Given the description of an element on the screen output the (x, y) to click on. 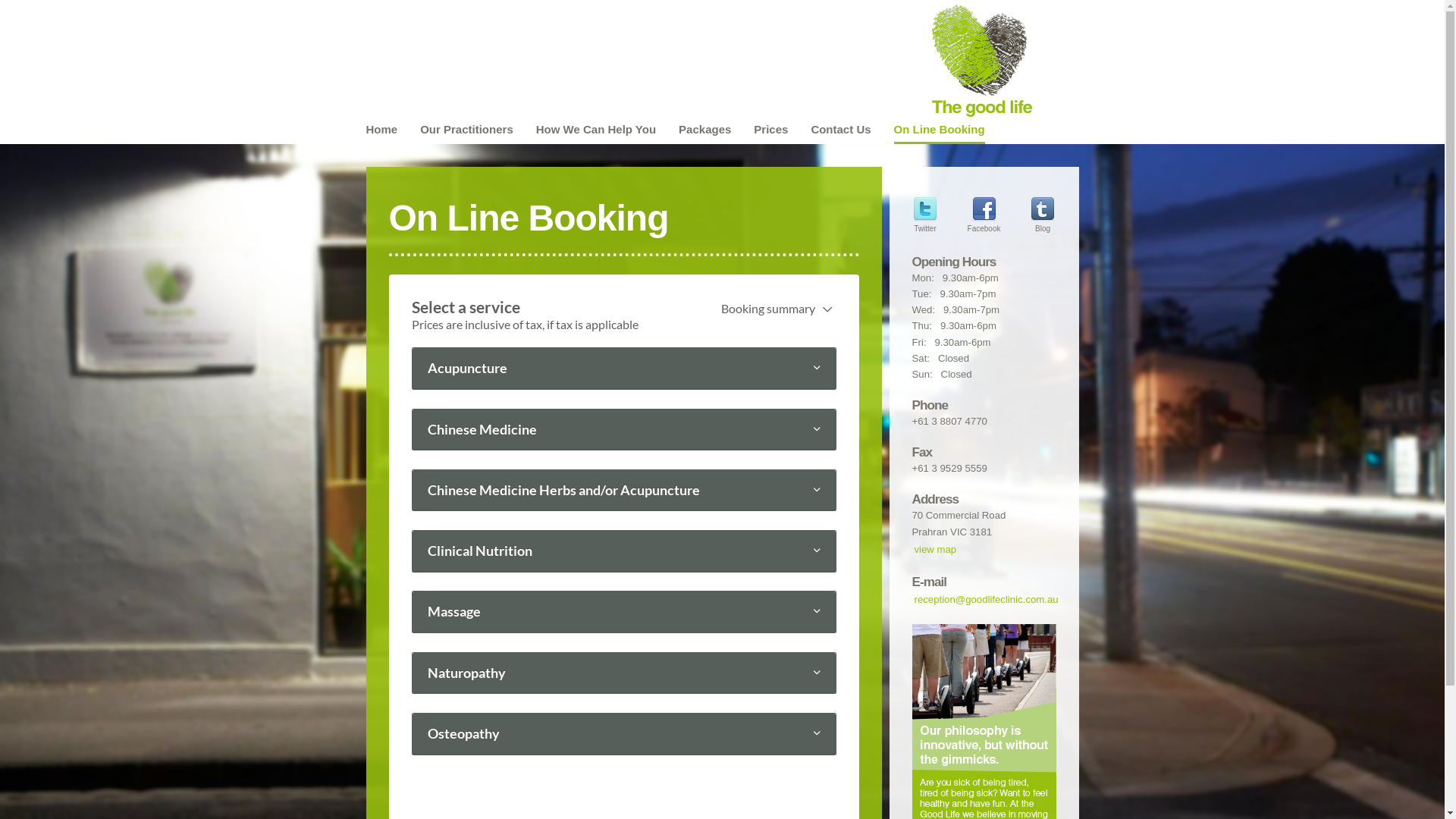
Facebook Element type: text (983, 217)
Prices Element type: text (770, 131)
Packages Element type: text (704, 131)
Our Practitioners Element type: text (466, 131)
Twitter Element type: text (924, 217)
reception@goodlifeclinic.com.au Element type: text (983, 598)
Blog Element type: text (1042, 217)
view map Element type: text (983, 548)
How We Can Help You Element type: text (595, 131)
Home Element type: text (381, 131)
Contact Us Element type: text (840, 131)
On Line Booking Element type: text (939, 131)
